Given the description of an element on the screen output the (x, y) to click on. 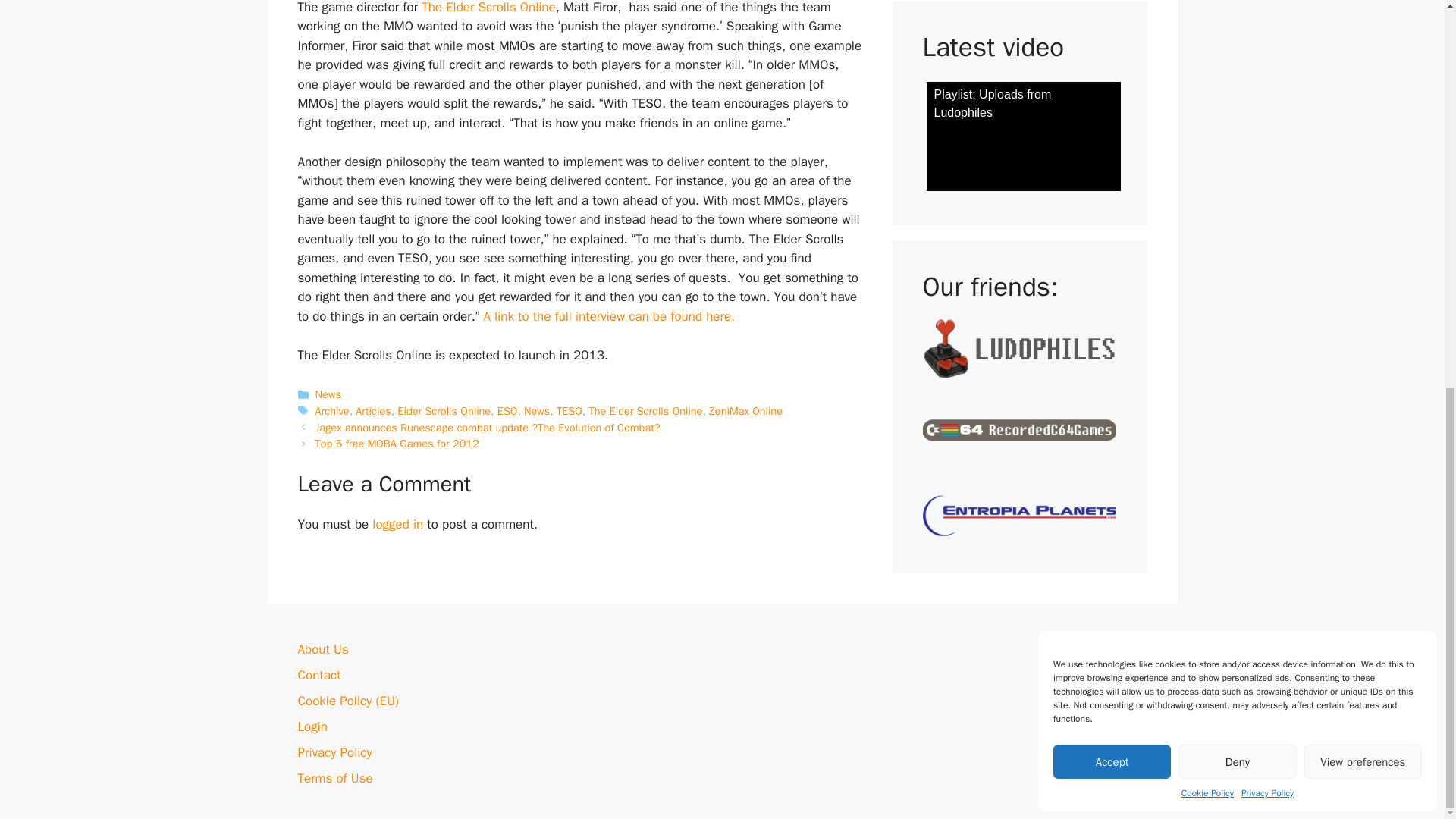
Deny (1236, 25)
Play Elder Scrolls Online Now (489, 7)
Cookie Policy (1206, 56)
Accept (1111, 25)
Playlist: Uploads from Ludophiles (1023, 135)
Privacy Policy (1267, 56)
View preferences (1363, 25)
Scroll back to top (1406, 802)
